Given the description of an element on the screen output the (x, y) to click on. 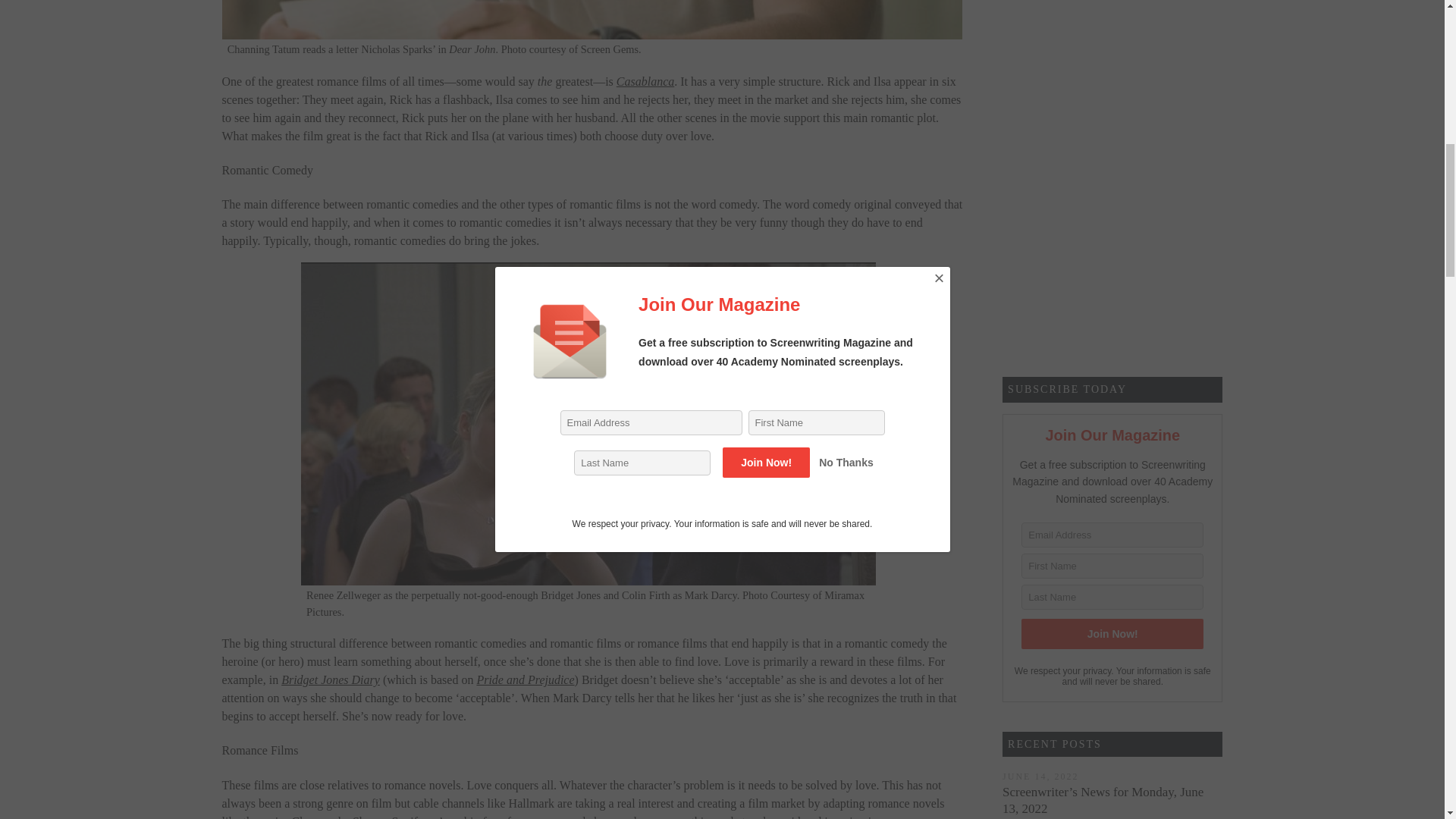
Bridget Jones Diary (330, 679)
Pride and Prejudice (524, 679)
Casablanca (644, 81)
Chesapeake Shores (338, 816)
Join Now! (1113, 634)
